Given the description of an element on the screen output the (x, y) to click on. 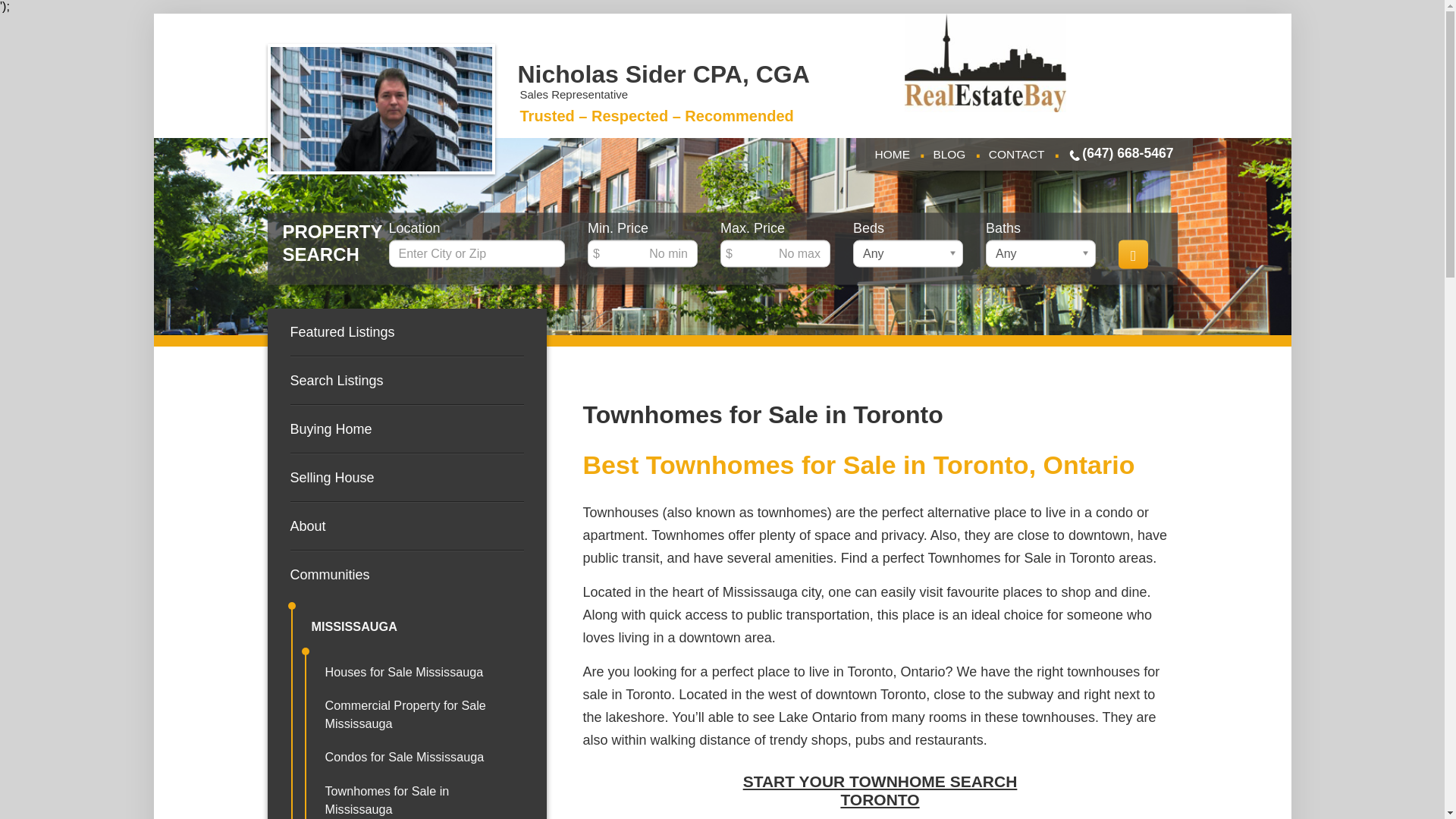
Accessibility Menu (9, 810)
